Given the description of an element on the screen output the (x, y) to click on. 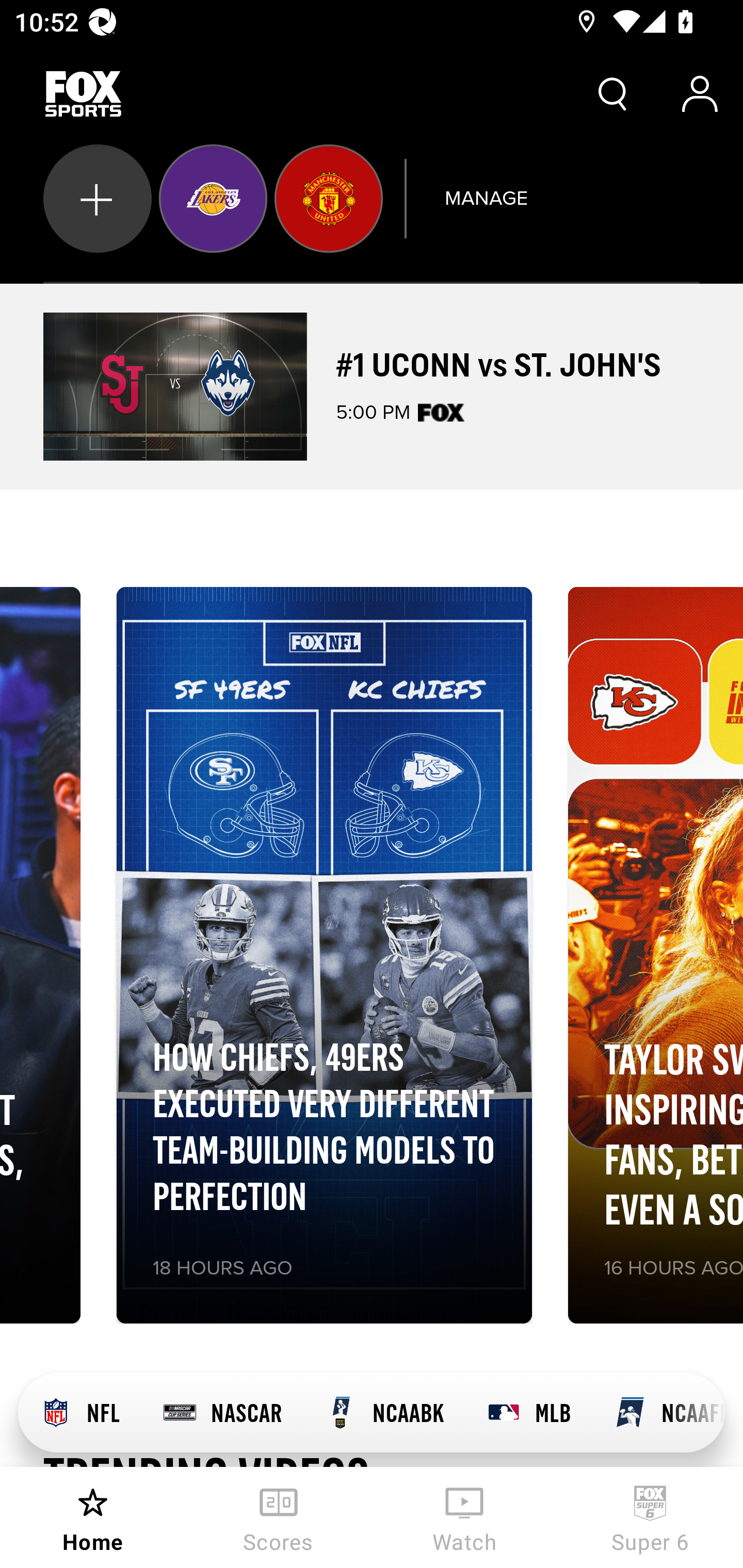
Search (612, 93)
Account (699, 93)
MANAGE (485, 198)
#1 UCONN vs ST. JOHN'S 5:00 PM (371, 386)
NFL (79, 1412)
NASCAR (222, 1412)
NCAABK (384, 1412)
MLB (528, 1412)
NCAAFB (658, 1412)
Scores (278, 1517)
Watch (464, 1517)
Super 6 (650, 1517)
